Given the description of an element on the screen output the (x, y) to click on. 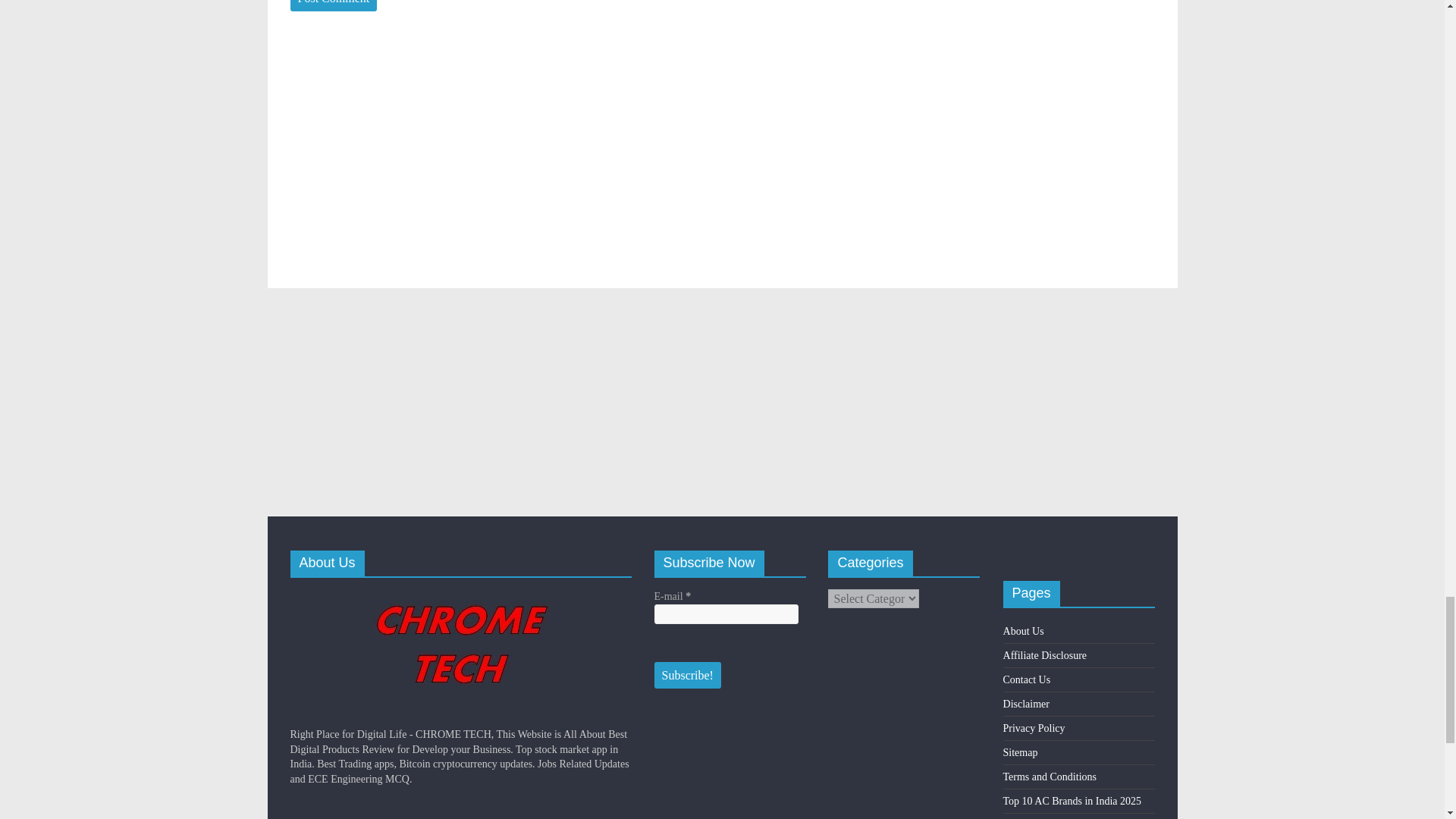
Post Comment (333, 6)
Subscribe! (686, 675)
